Given the description of an element on the screen output the (x, y) to click on. 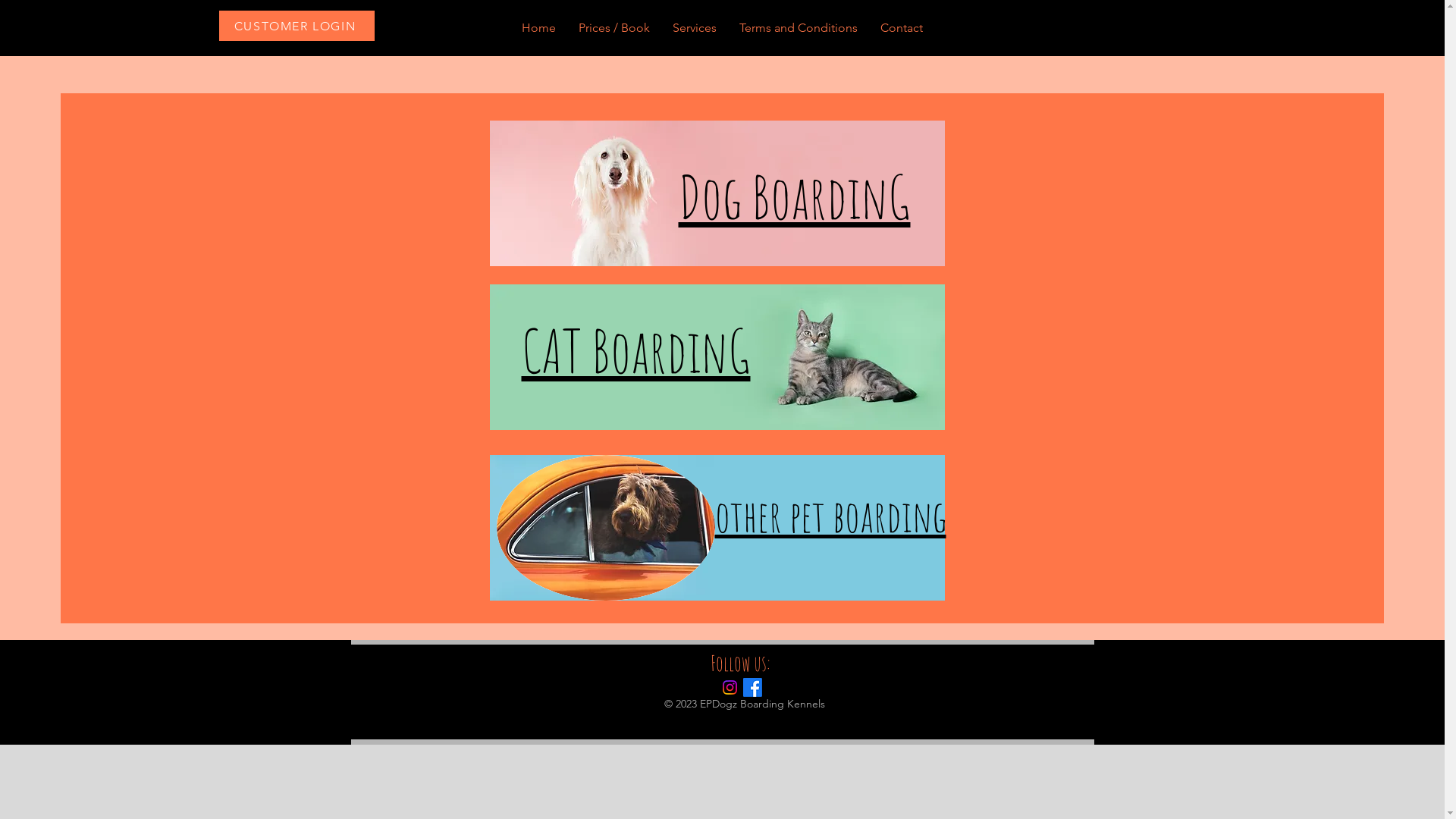
Home Element type: text (538, 27)
Services Element type: text (694, 27)
Prices / Book Element type: text (614, 27)
Contact Element type: text (901, 27)
other pet boarding Element type: text (829, 515)
CUSTOMER LOGIN Element type: text (295, 25)
CAT BoardinG Element type: text (635, 350)
Terms and Conditions Element type: text (798, 27)
Dog BoardinG Element type: text (793, 196)
